Given the description of an element on the screen output the (x, y) to click on. 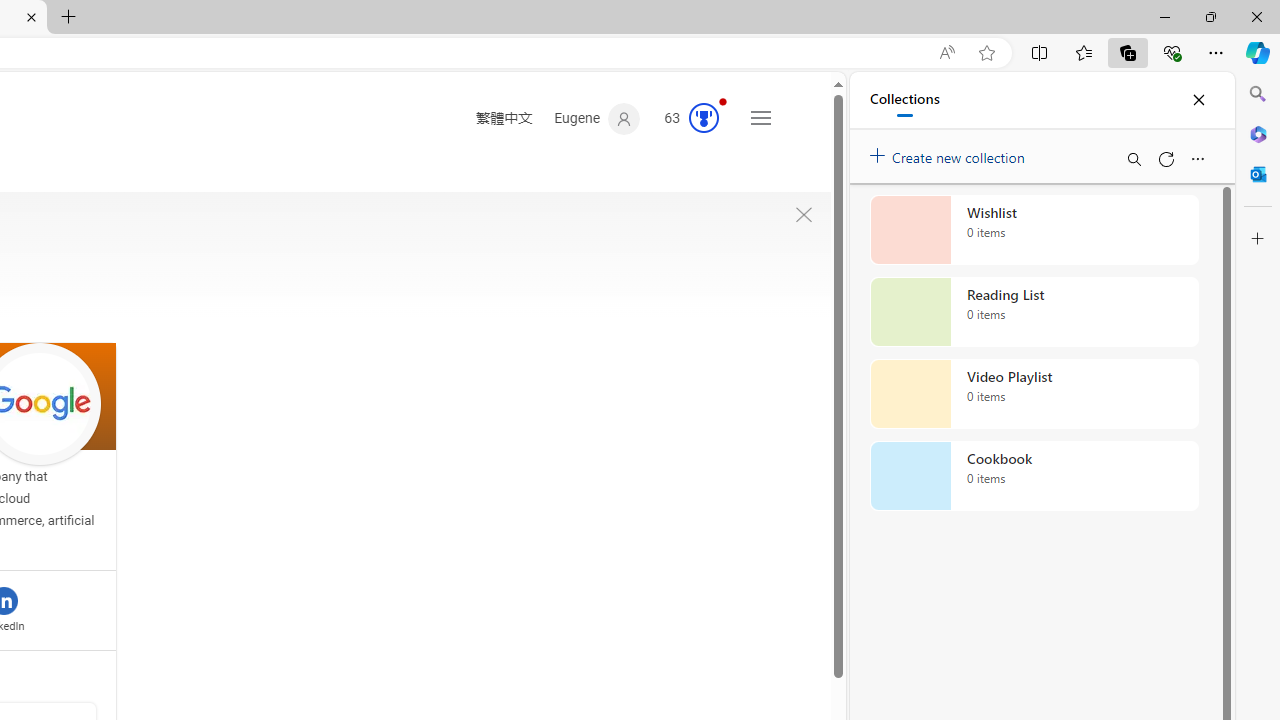
Animation (723, 101)
AutomationID: serp_medal_svg (703, 117)
Eugene (597, 119)
Microsoft Rewards 54 (685, 119)
More options menu (1197, 158)
Settings and quick links (760, 117)
